Given the description of an element on the screen output the (x, y) to click on. 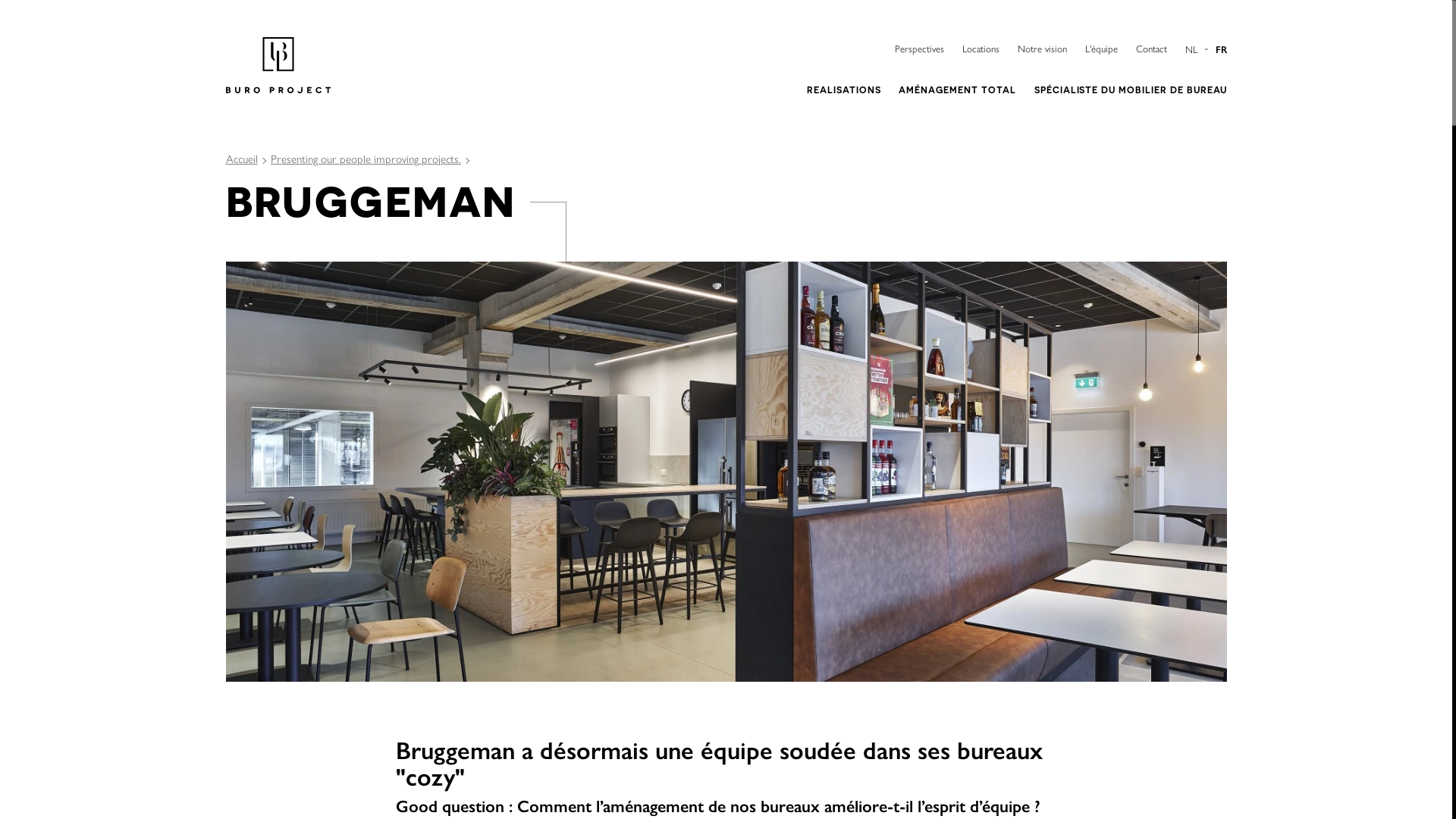
REALISATIONS Element type: text (843, 89)
Presenting our people improving projects. Element type: text (365, 158)
Accueil Element type: text (241, 158)
Nederlands Element type: text (1193, 48)
Locations Element type: text (979, 47)
Notre vision Element type: text (1041, 47)
Contact Element type: text (1151, 47)
Perspectives Element type: text (919, 47)
